Given the description of an element on the screen output the (x, y) to click on. 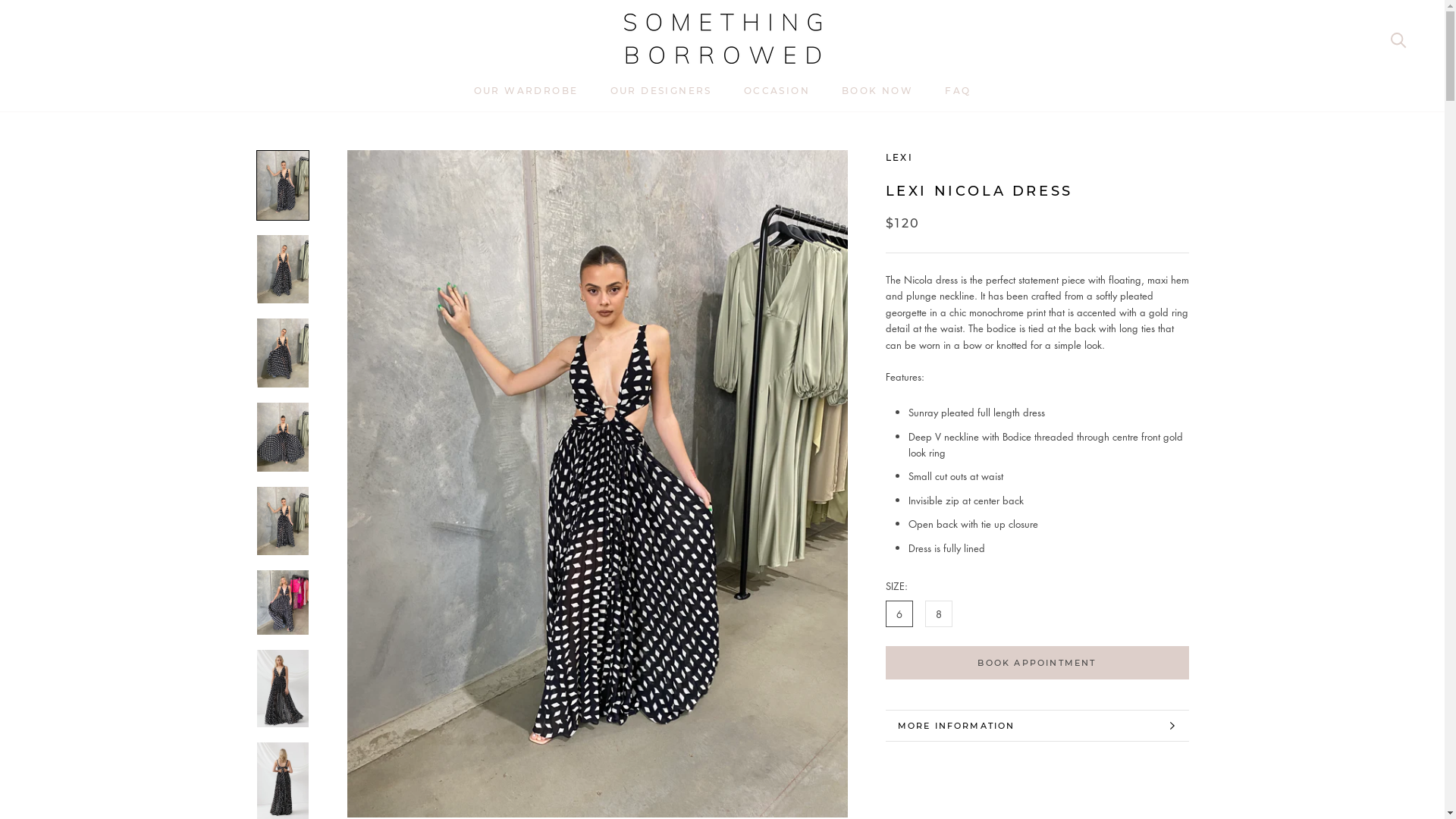
OCCASION Element type: text (776, 90)
FAQ
FAQ Element type: text (957, 90)
OUR WARDROBE Element type: text (525, 90)
BOOK NOW
BOOK NOW Element type: text (877, 90)
OUR DESIGNERS Element type: text (660, 90)
LEXI Element type: text (899, 157)
BOOK APPOINTMENT Element type: text (1037, 662)
MORE INFORMATION Element type: text (1037, 725)
